Given the description of an element on the screen output the (x, y) to click on. 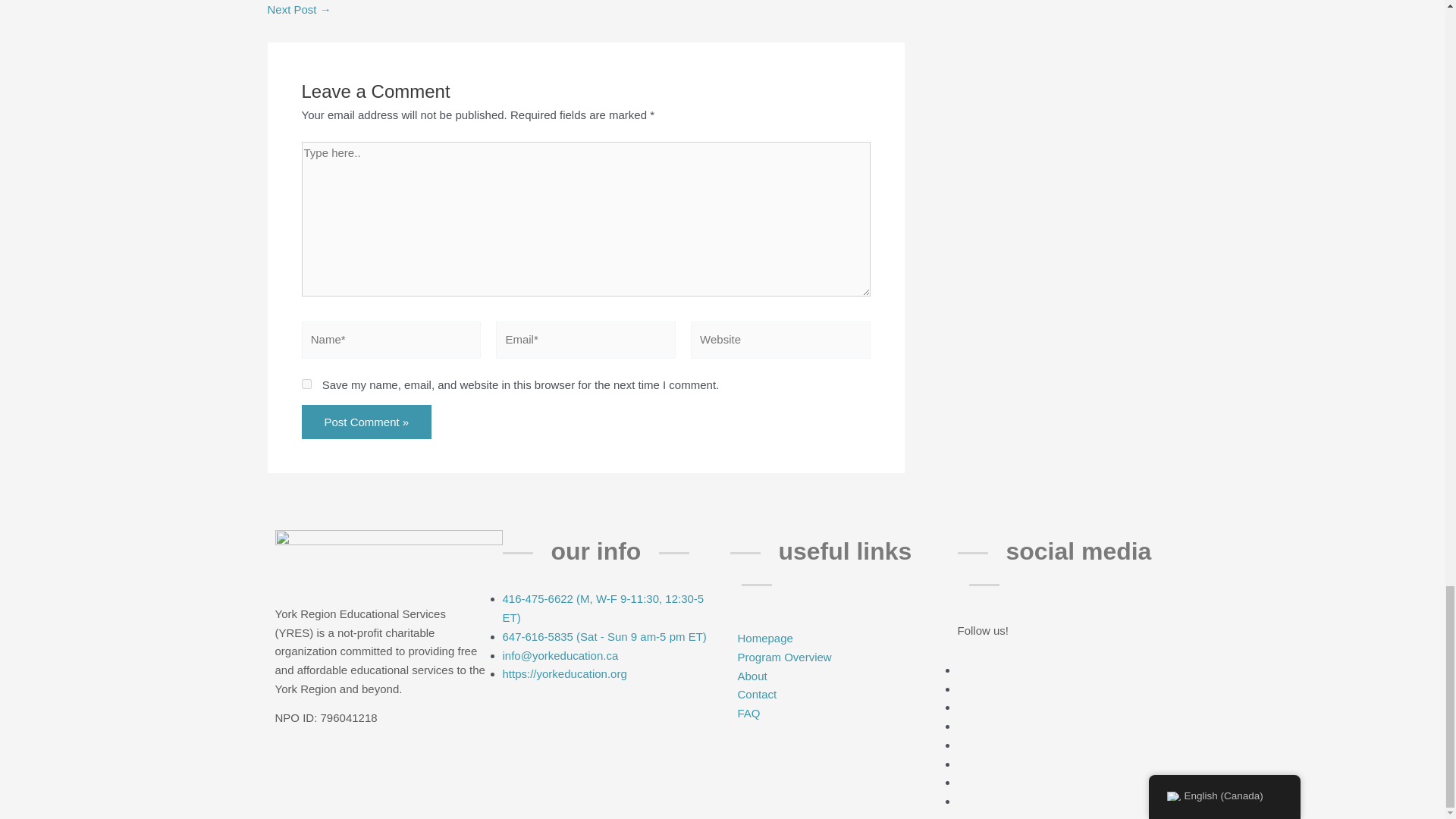
yes (306, 384)
